Given the description of an element on the screen output the (x, y) to click on. 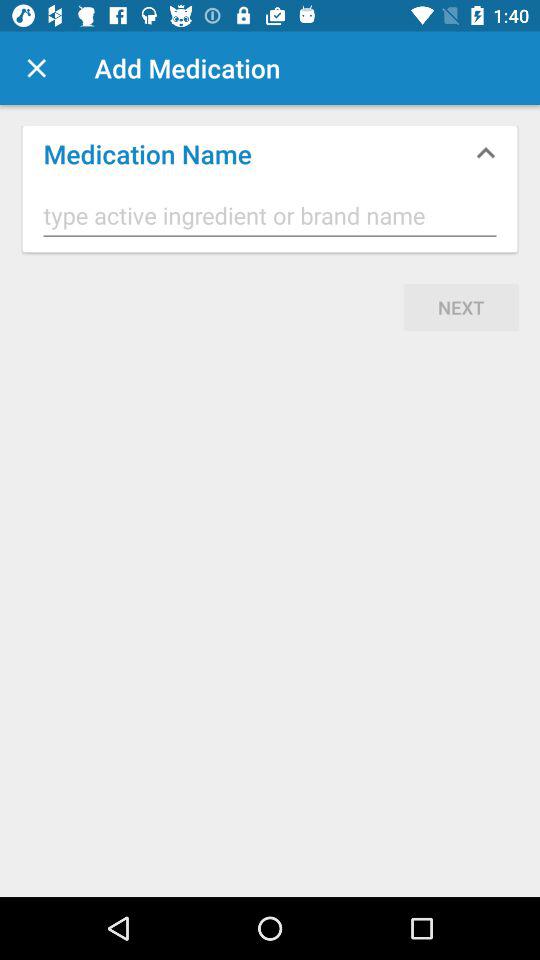
select the icon above the medication name (36, 68)
